Given the description of an element on the screen output the (x, y) to click on. 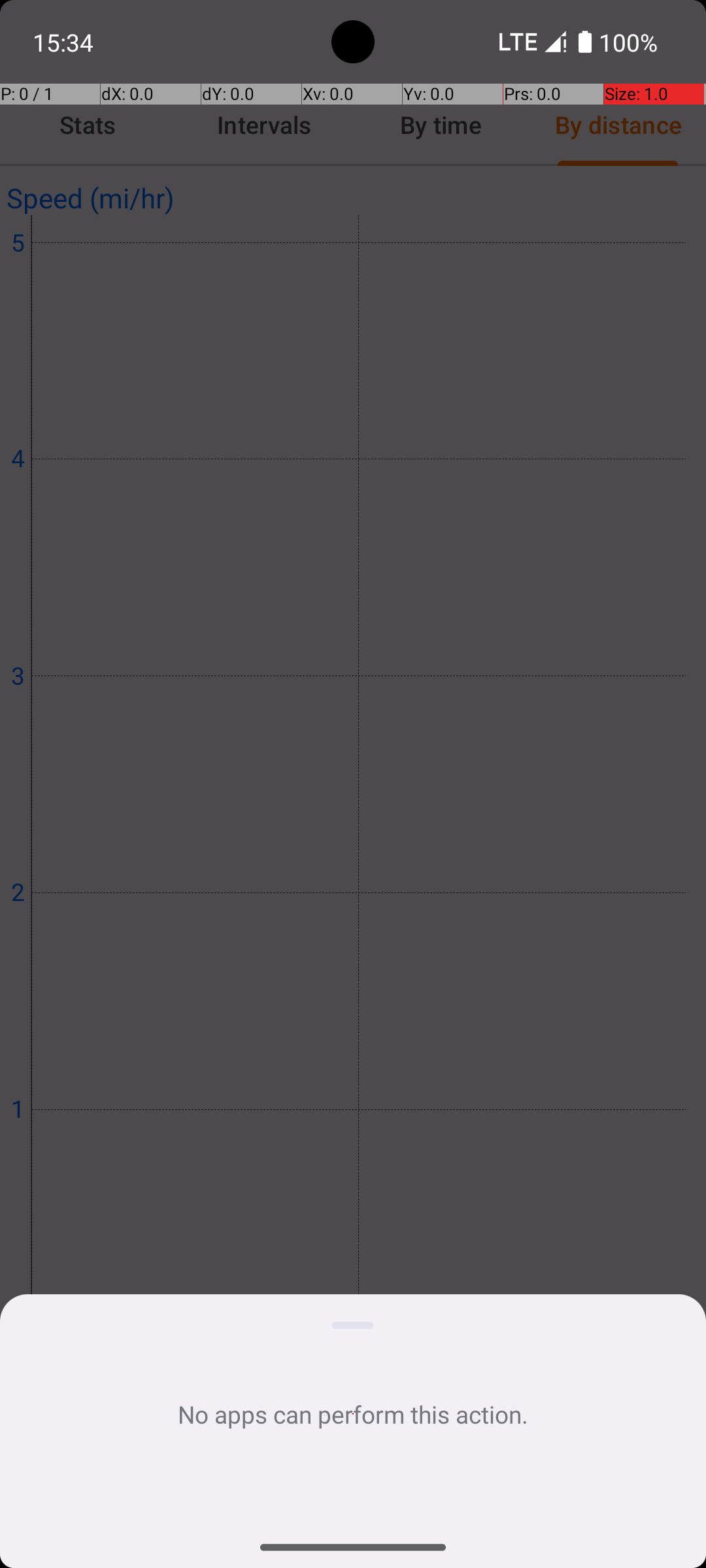
No apps can perform this action. Element type: android.widget.TextView (352, 1413)
